Given the description of an element on the screen output the (x, y) to click on. 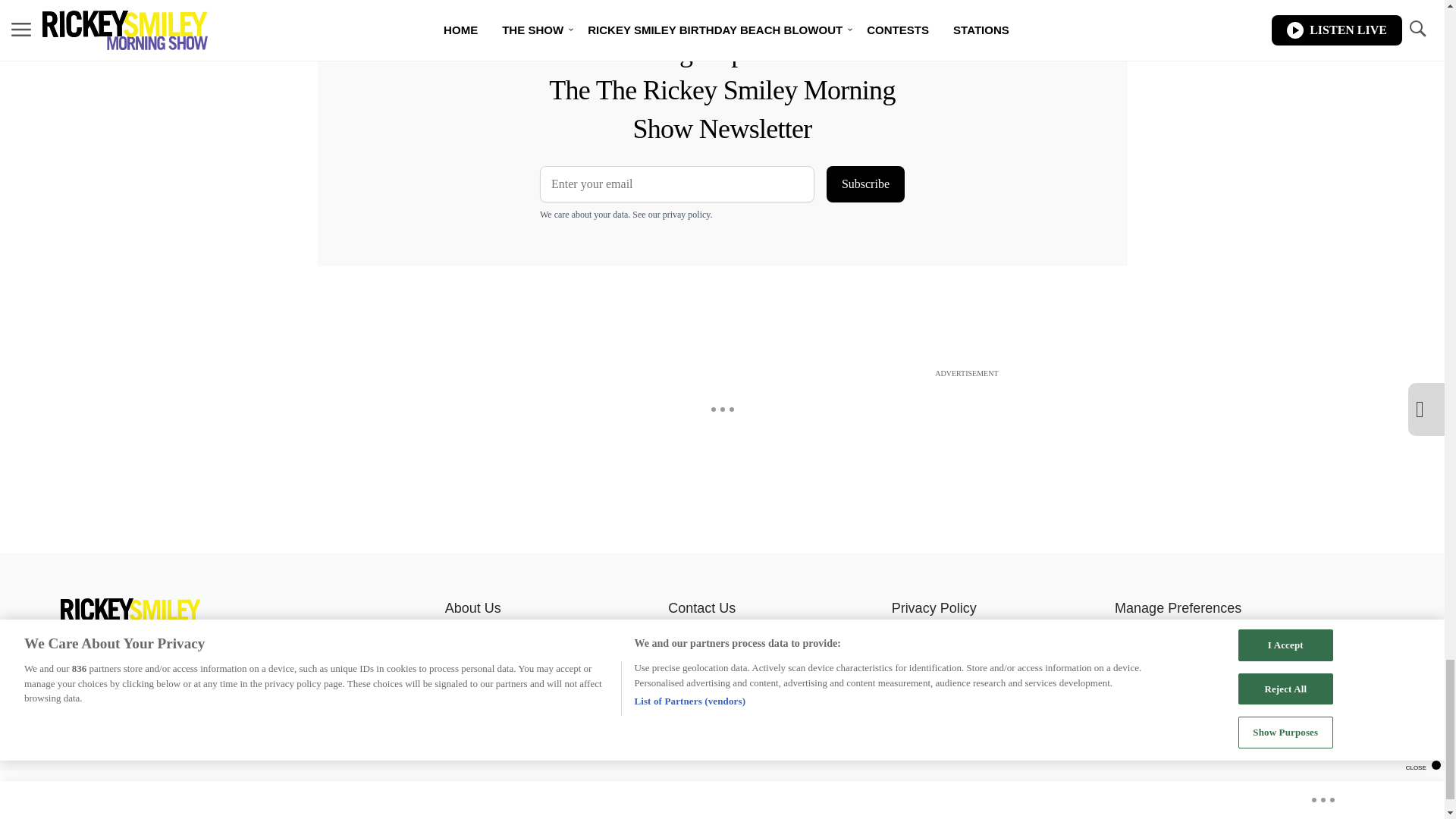
3rd party ad content (721, 415)
